Given the description of an element on the screen output the (x, y) to click on. 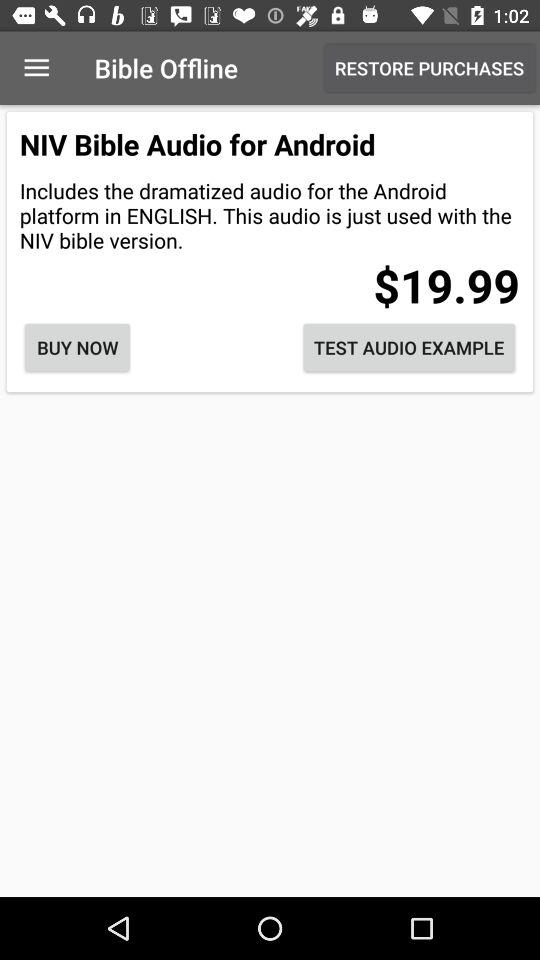
select item below includes the dramatized (77, 347)
